Given the description of an element on the screen output the (x, y) to click on. 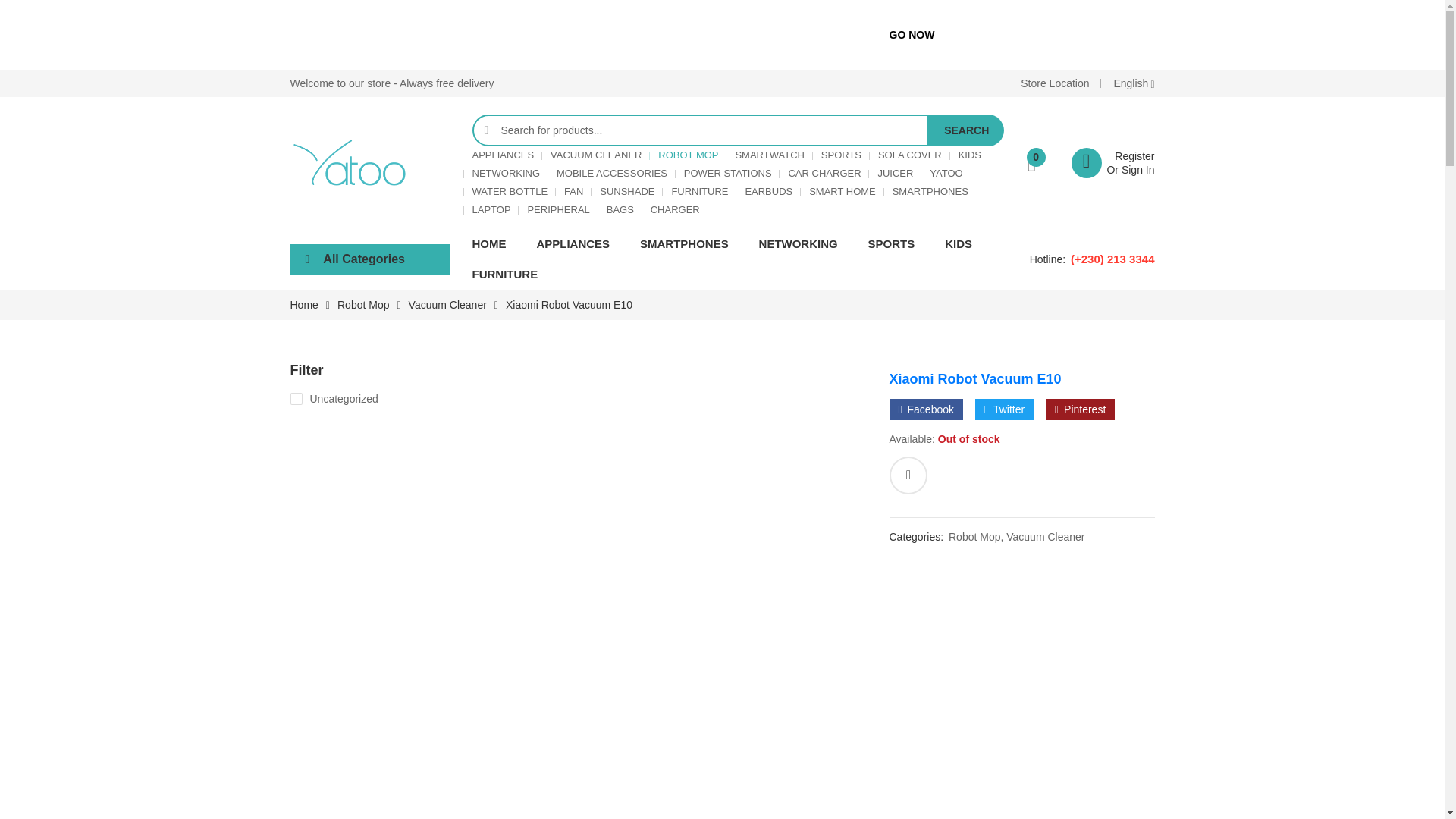
KIDS (969, 155)
Pinterest (1080, 409)
FAN (573, 191)
JUICER (894, 173)
GO NOW (911, 34)
SMARTPHONES (930, 191)
Facebook (925, 409)
Store Location (1054, 83)
CHARGER (675, 209)
LAPTOP (491, 209)
